Given the description of an element on the screen output the (x, y) to click on. 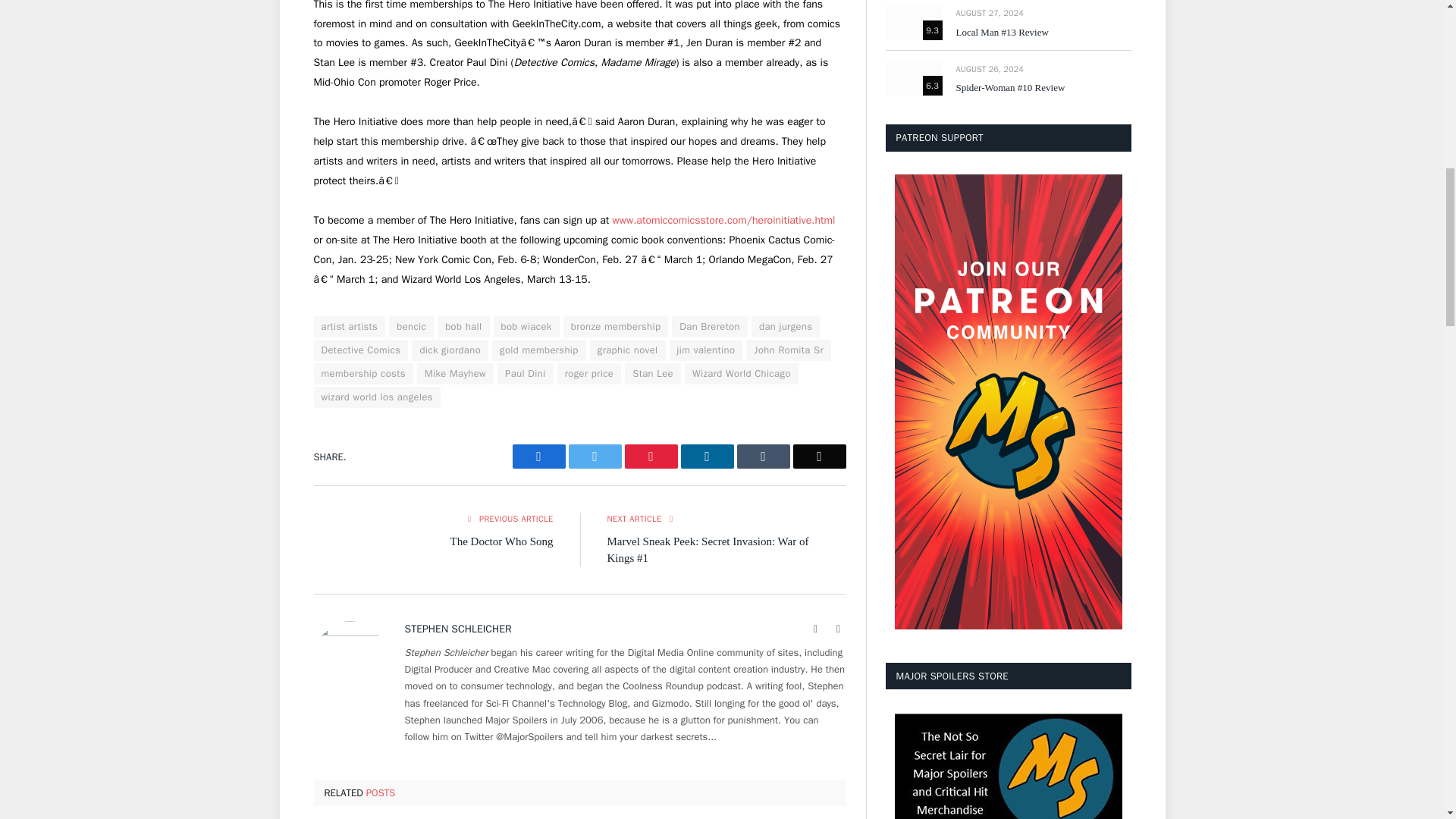
Share on LinkedIn (707, 456)
Share on Tumblr (763, 456)
Share on Facebook (539, 456)
Share on Pinterest (651, 456)
Share on Twitter (595, 456)
Share via Email (819, 456)
